Given the description of an element on the screen output the (x, y) to click on. 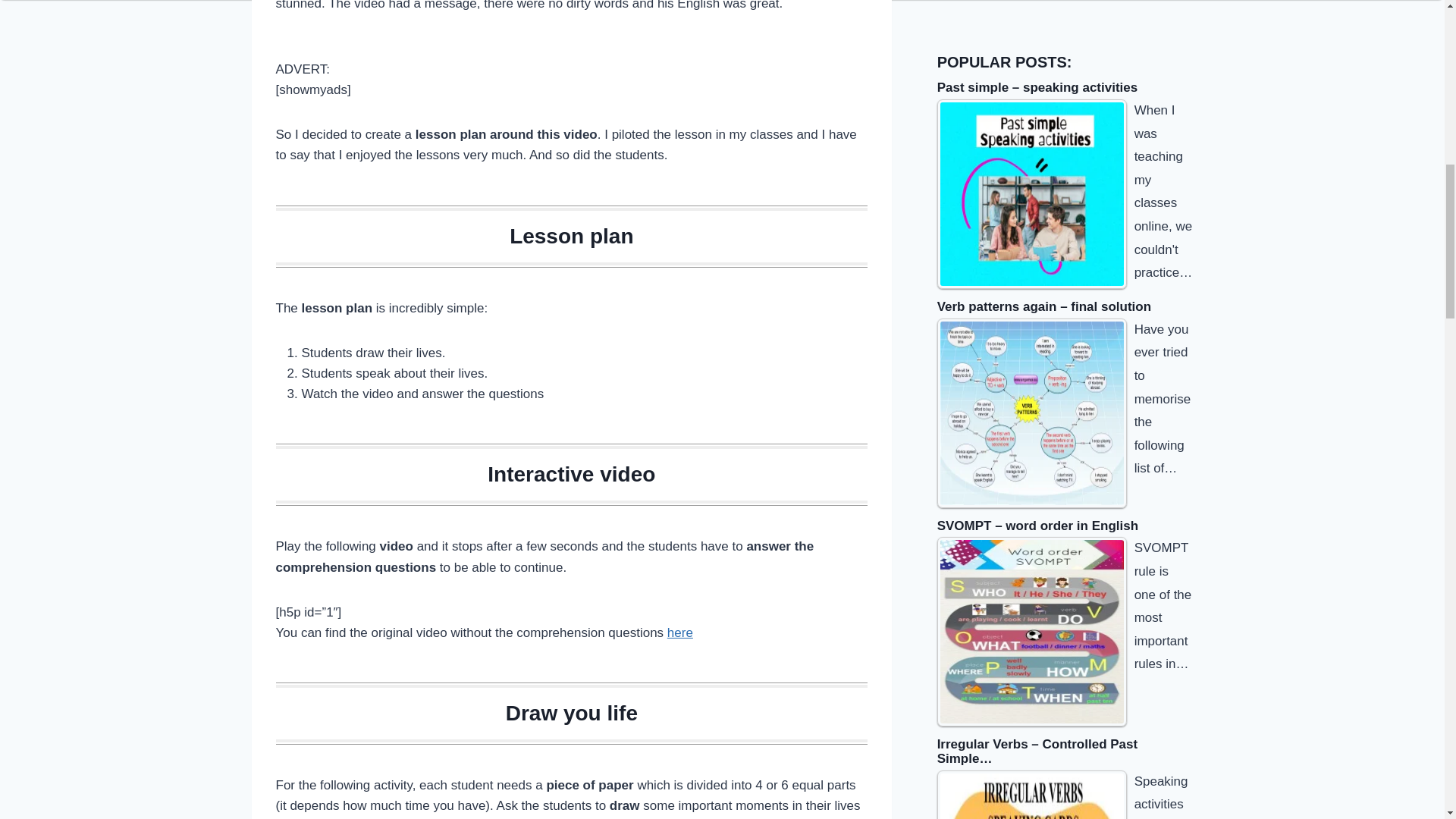
Verb patterns again - final solution (1031, 412)
here (679, 632)
Advertisement (1050, 12)
Past simple - speaking activities (1031, 194)
SVOMPT - word order in English (1031, 631)
